Given the description of an element on the screen output the (x, y) to click on. 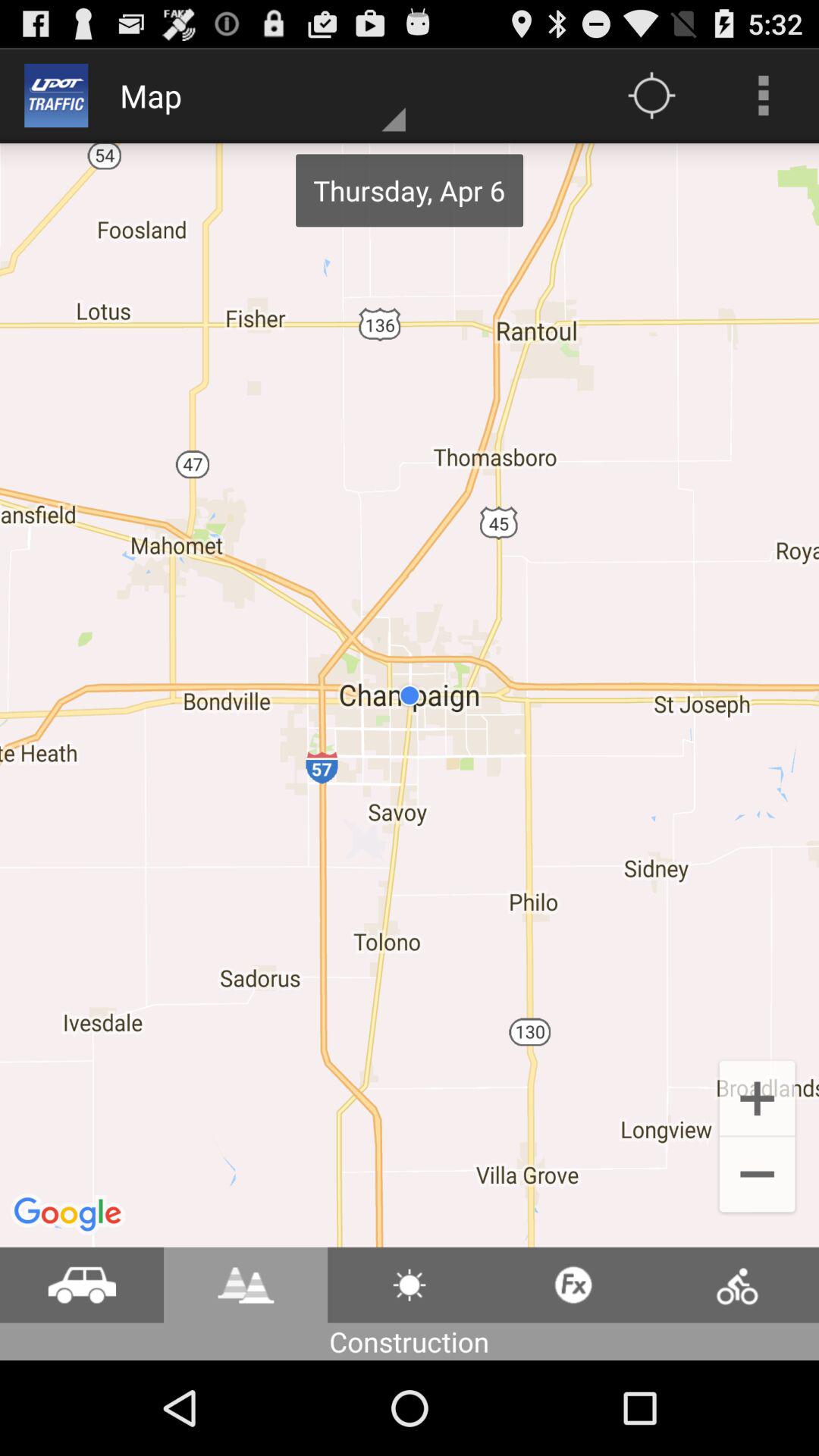
open construction (245, 1284)
